Given the description of an element on the screen output the (x, y) to click on. 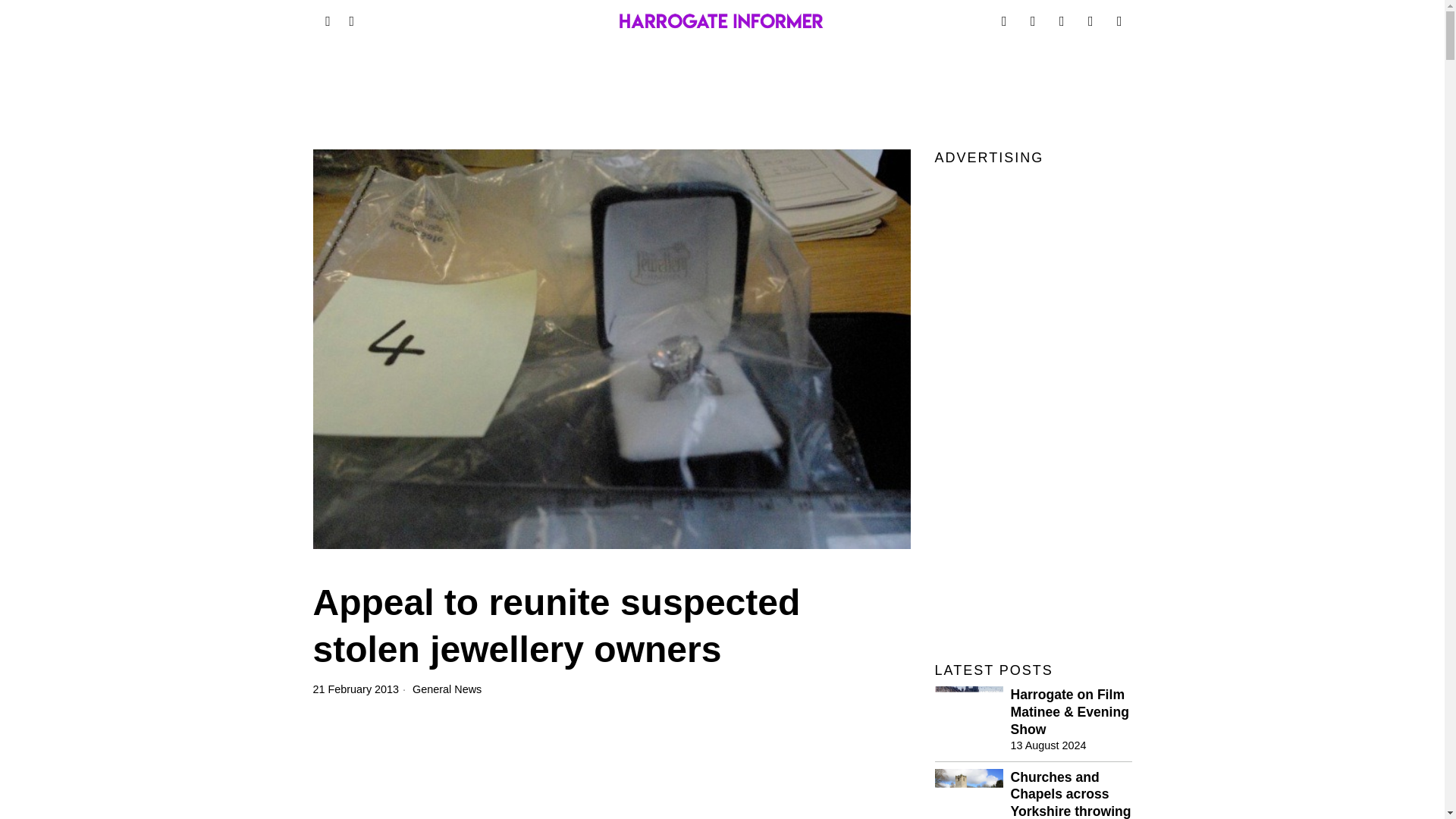
13 Aug, 2024 09:55:35 (1048, 744)
21 Feb, 2013 16:03:03 (355, 688)
General News (446, 689)
